Given the description of an element on the screen output the (x, y) to click on. 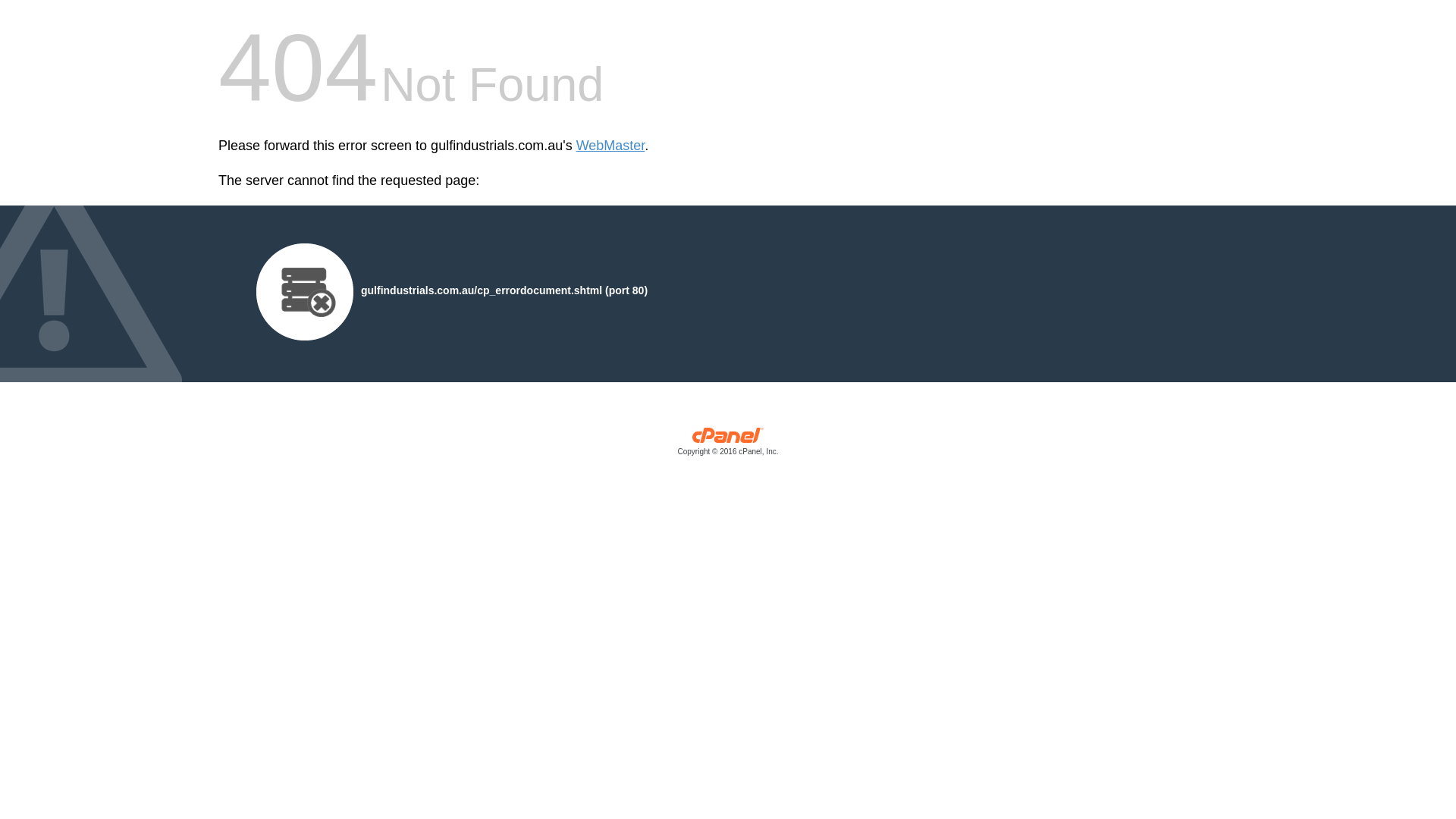
WebMaster Element type: text (610, 145)
